Given the description of an element on the screen output the (x, y) to click on. 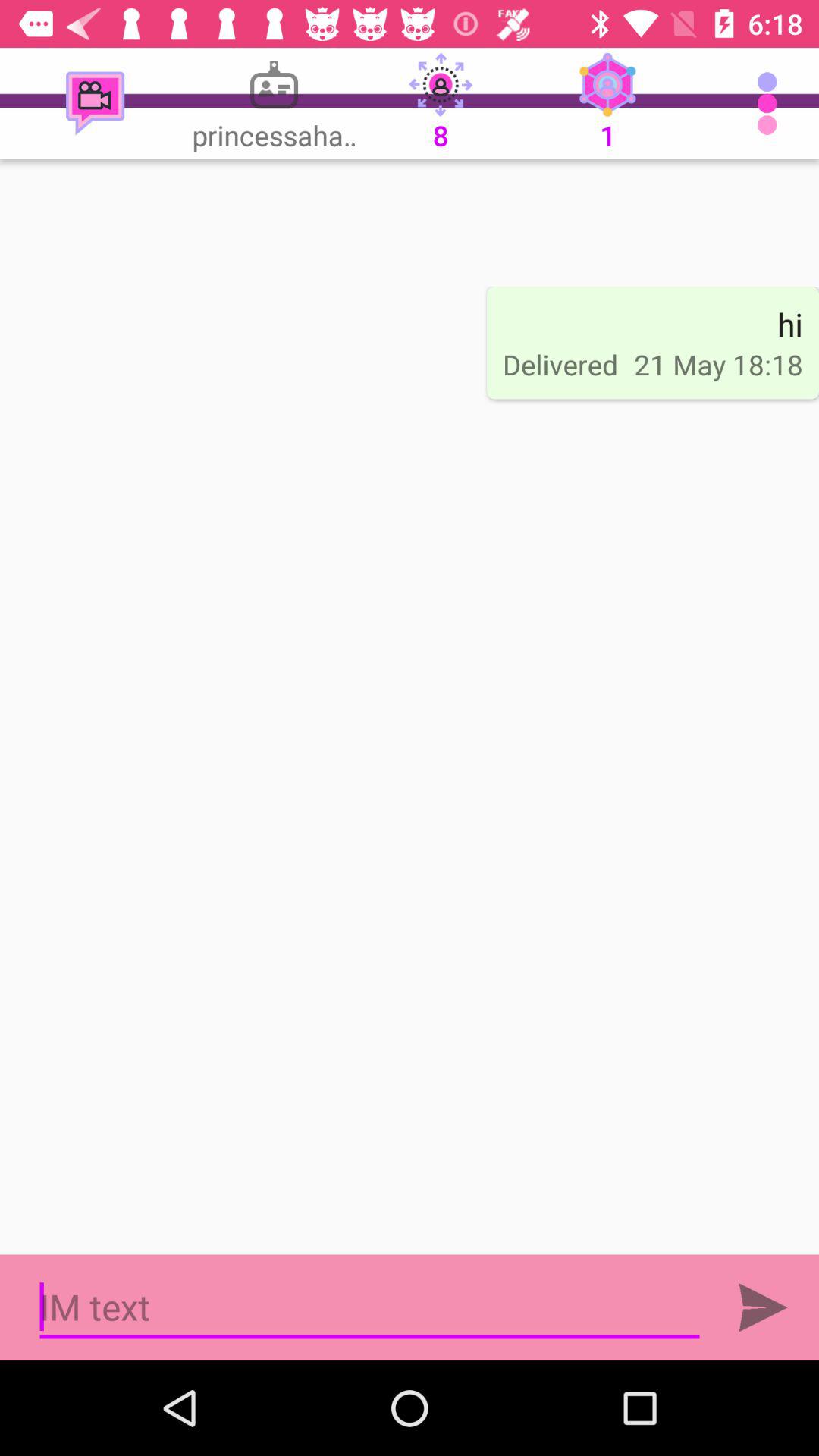
send message (763, 1307)
